Given the description of an element on the screen output the (x, y) to click on. 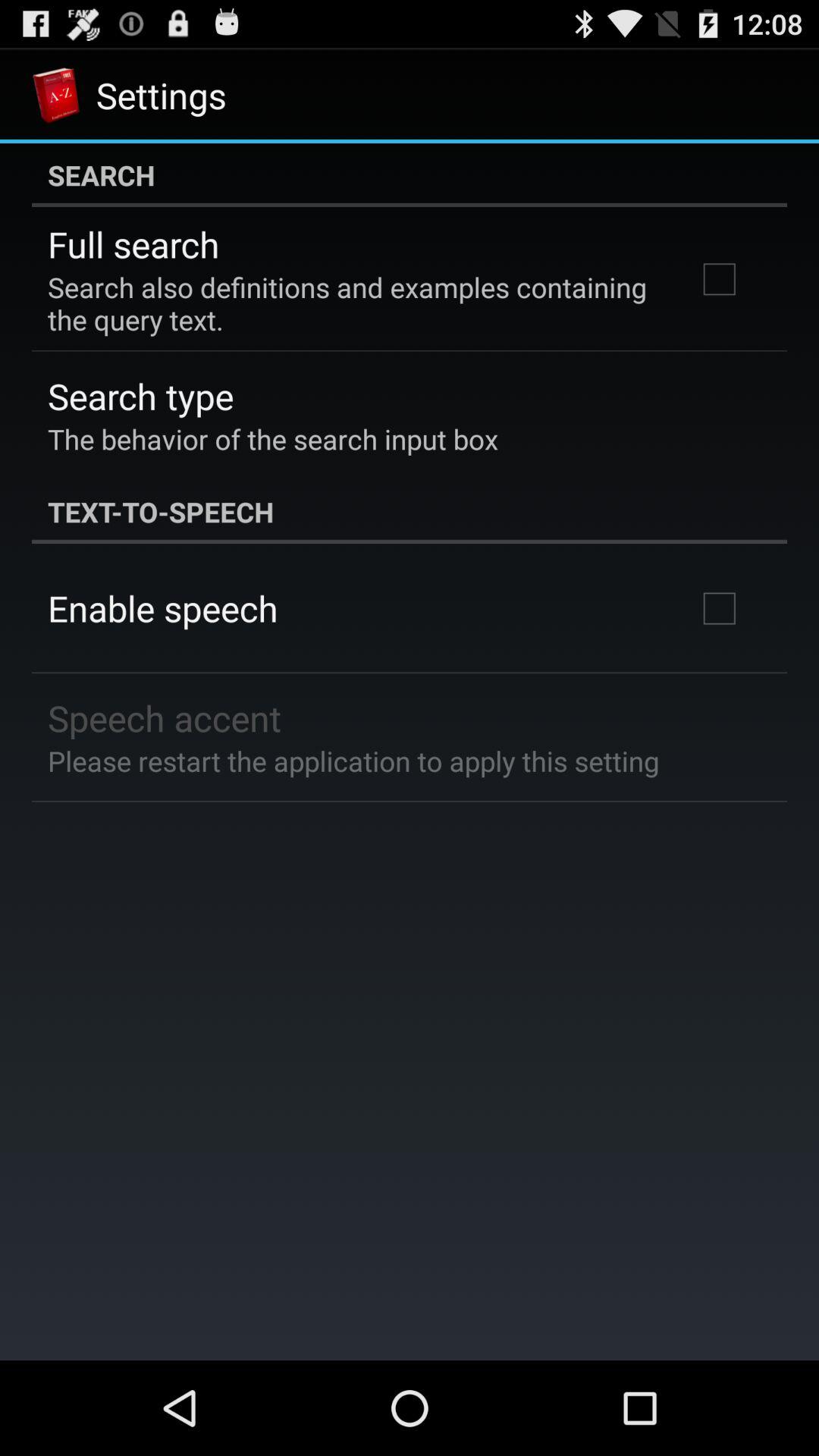
click the icon above the speech accent icon (162, 608)
